Given the description of an element on the screen output the (x, y) to click on. 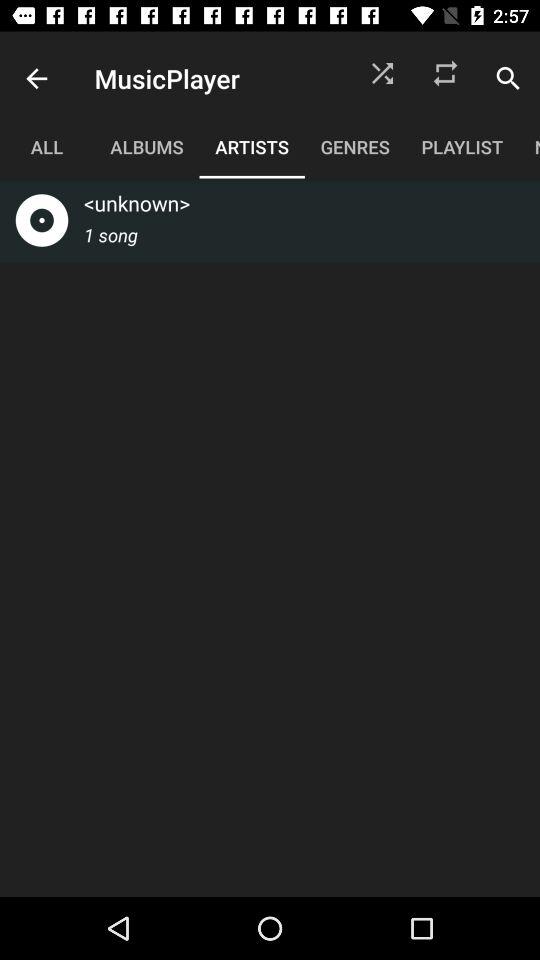
press the icon next to musicplayer (36, 78)
